Given the description of an element on the screen output the (x, y) to click on. 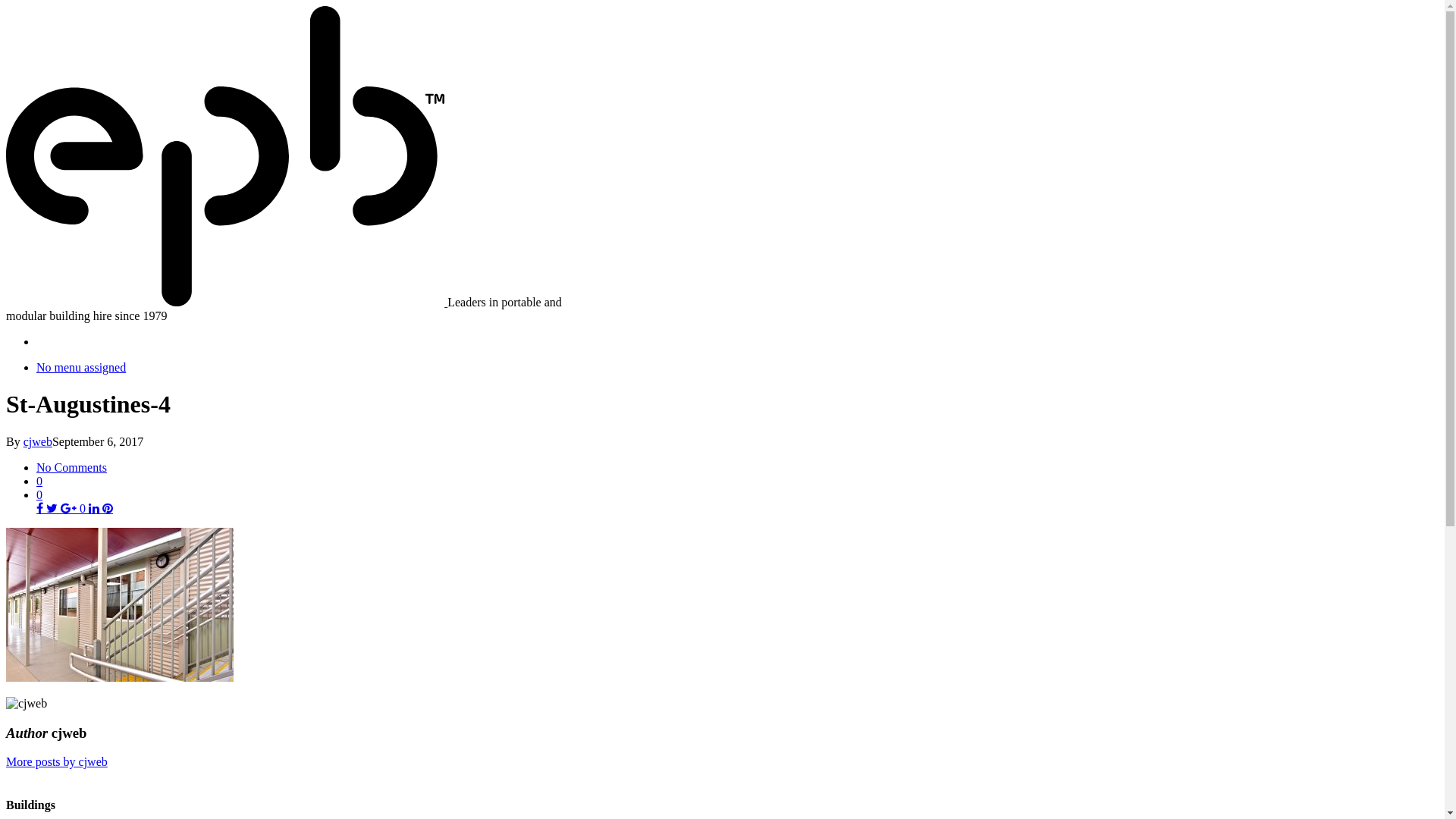
Share this Element type: hover (41, 508)
Share this Element type: hover (93, 508)
No menu assigned Element type: text (80, 366)
More posts by cjweb Element type: text (56, 761)
cjweb Element type: text (37, 441)
0 Element type: text (39, 494)
0 Element type: text (737, 480)
Pin this Element type: hover (107, 508)
No Comments Element type: text (71, 467)
Tweet this Element type: hover (53, 508)
0 Element type: text (72, 508)
